Given the description of an element on the screen output the (x, y) to click on. 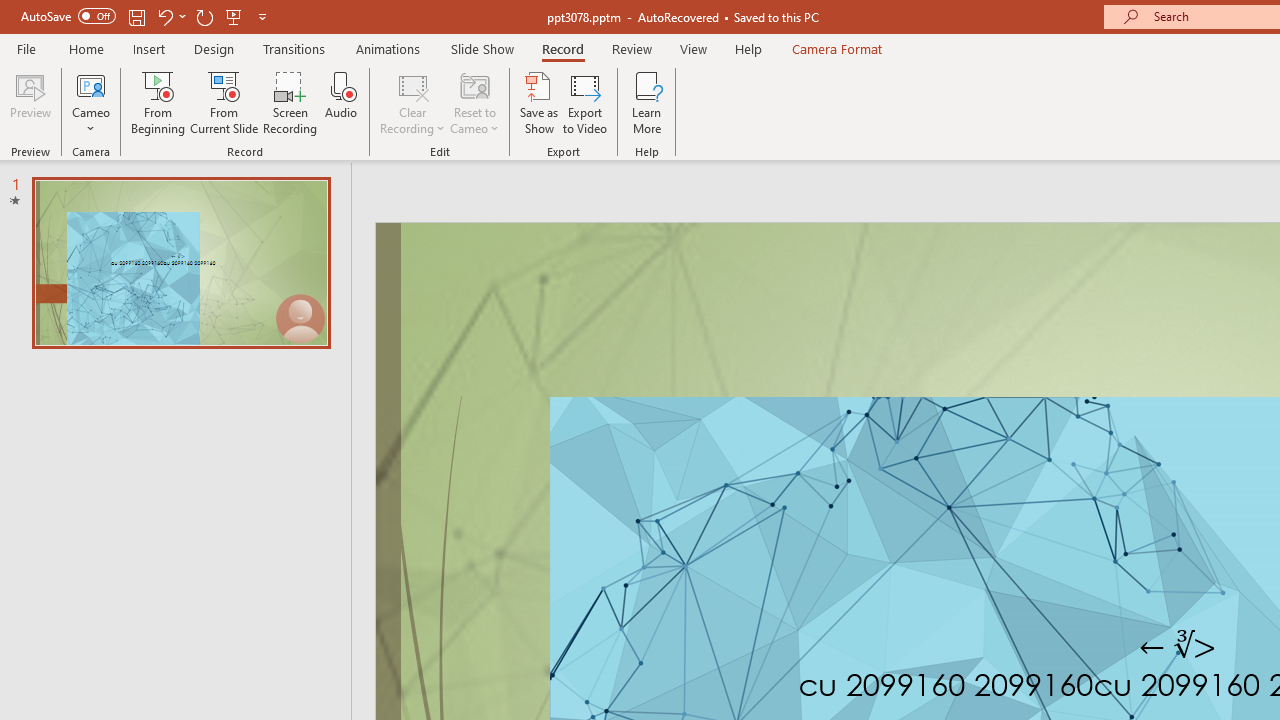
TextBox 7 (1178, 646)
